Given the description of an element on the screen output the (x, y) to click on. 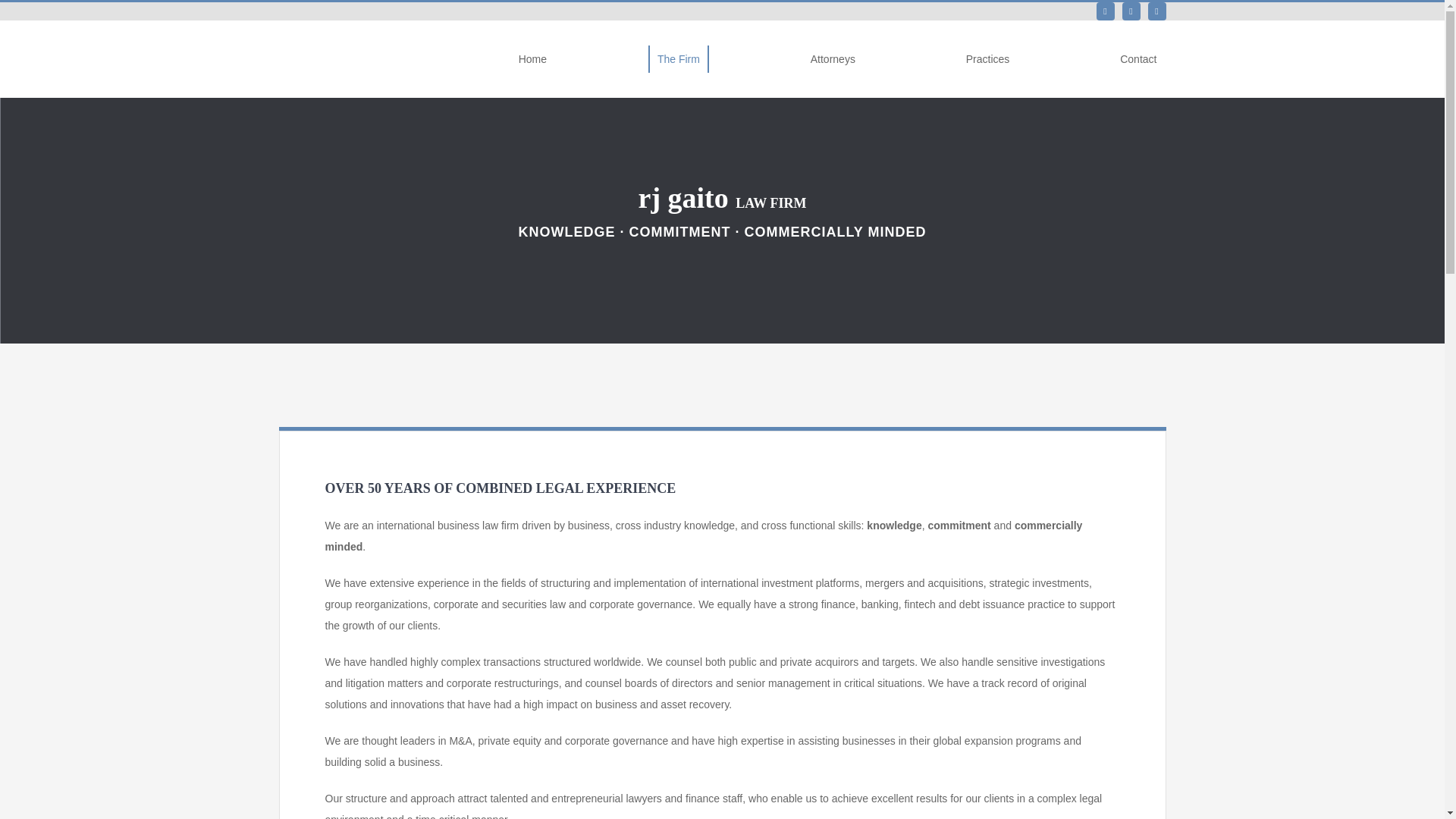
The Firm (678, 58)
Home (532, 59)
Attorneys (833, 59)
Contact (1138, 59)
Practices (987, 59)
